Given the description of an element on the screen output the (x, y) to click on. 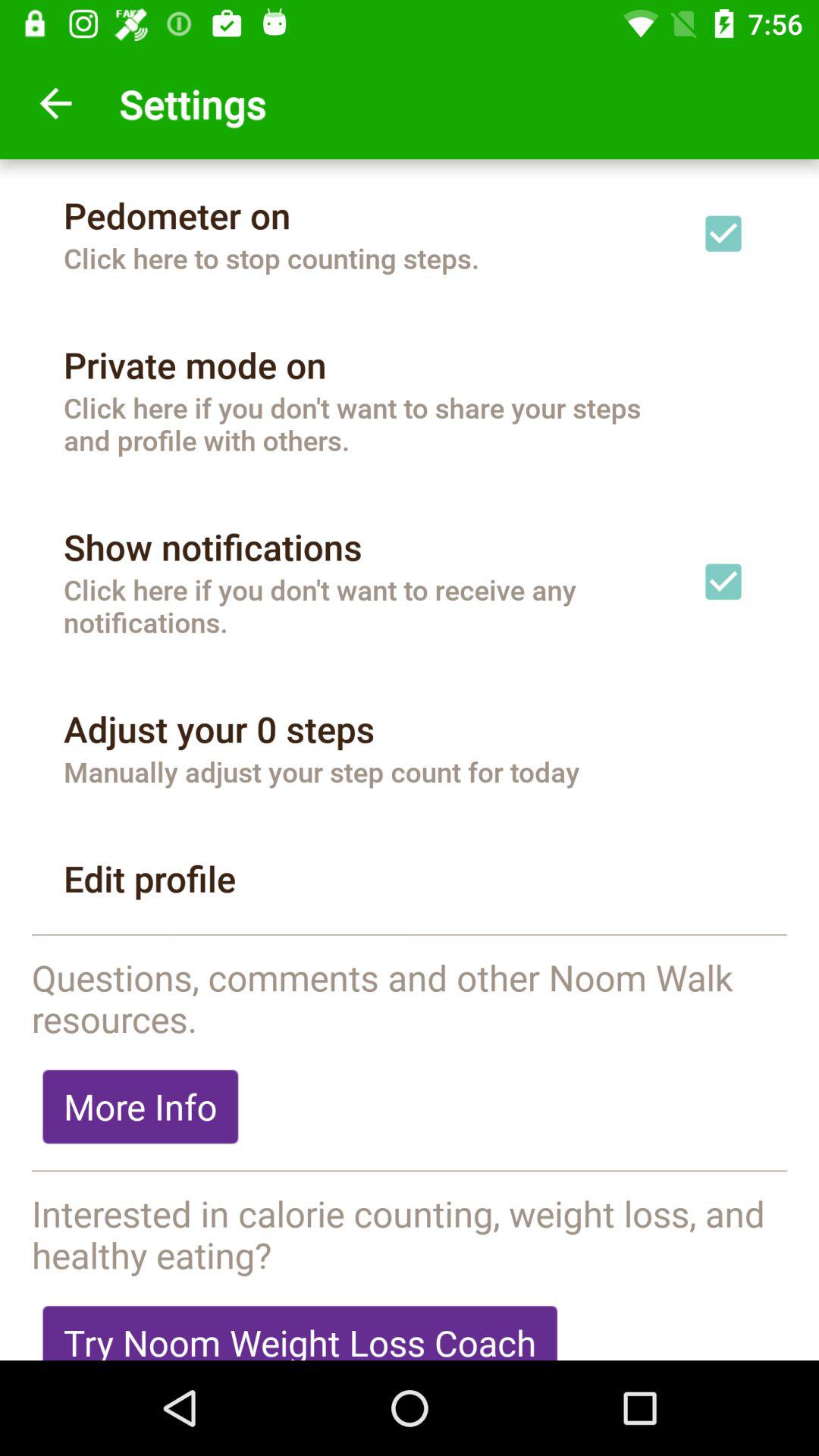
launch the item above the interested in calorie (409, 1171)
